Given the description of an element on the screen output the (x, y) to click on. 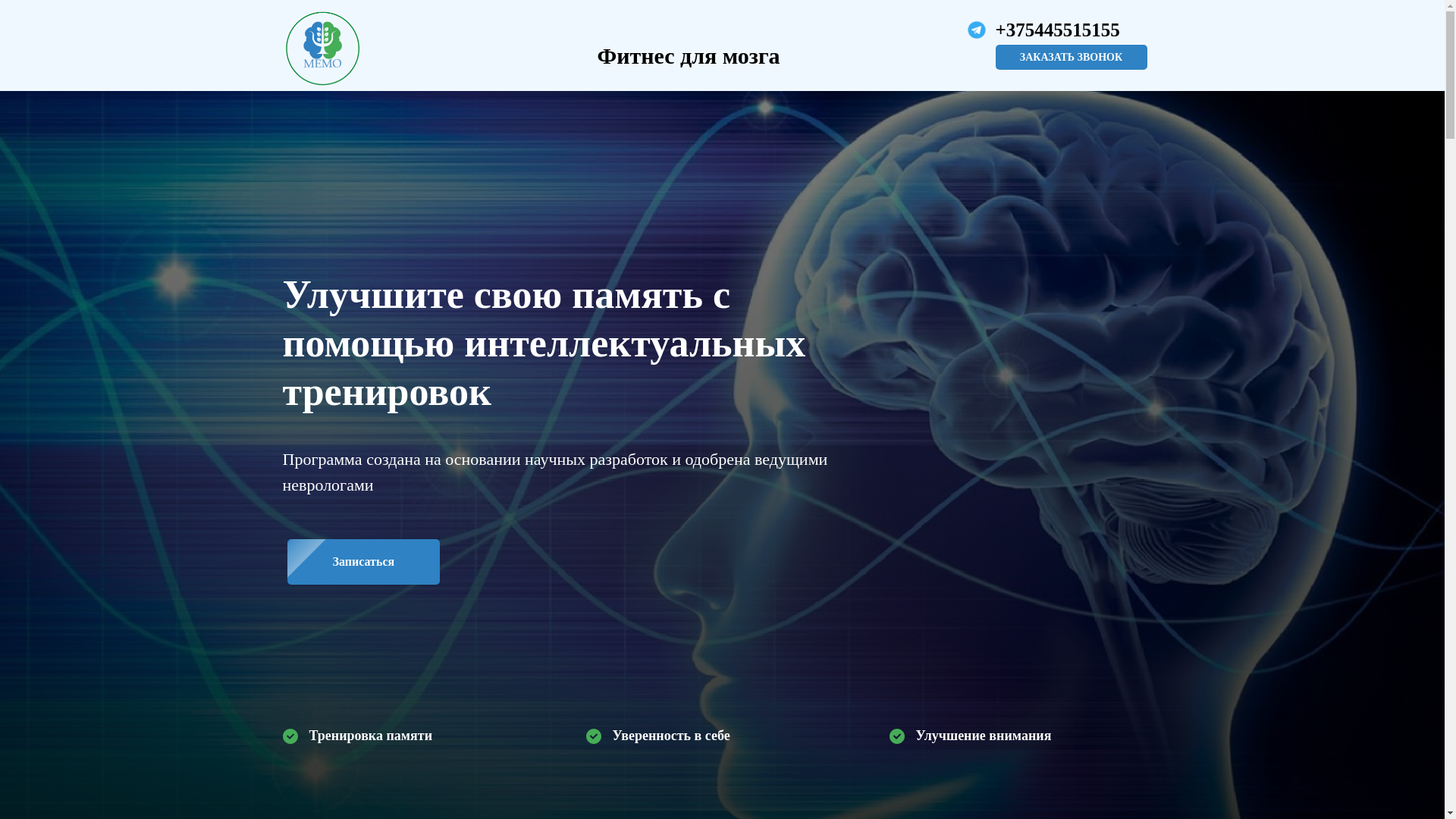
+375445515155 Element type: text (1056, 29)
